Given the description of an element on the screen output the (x, y) to click on. 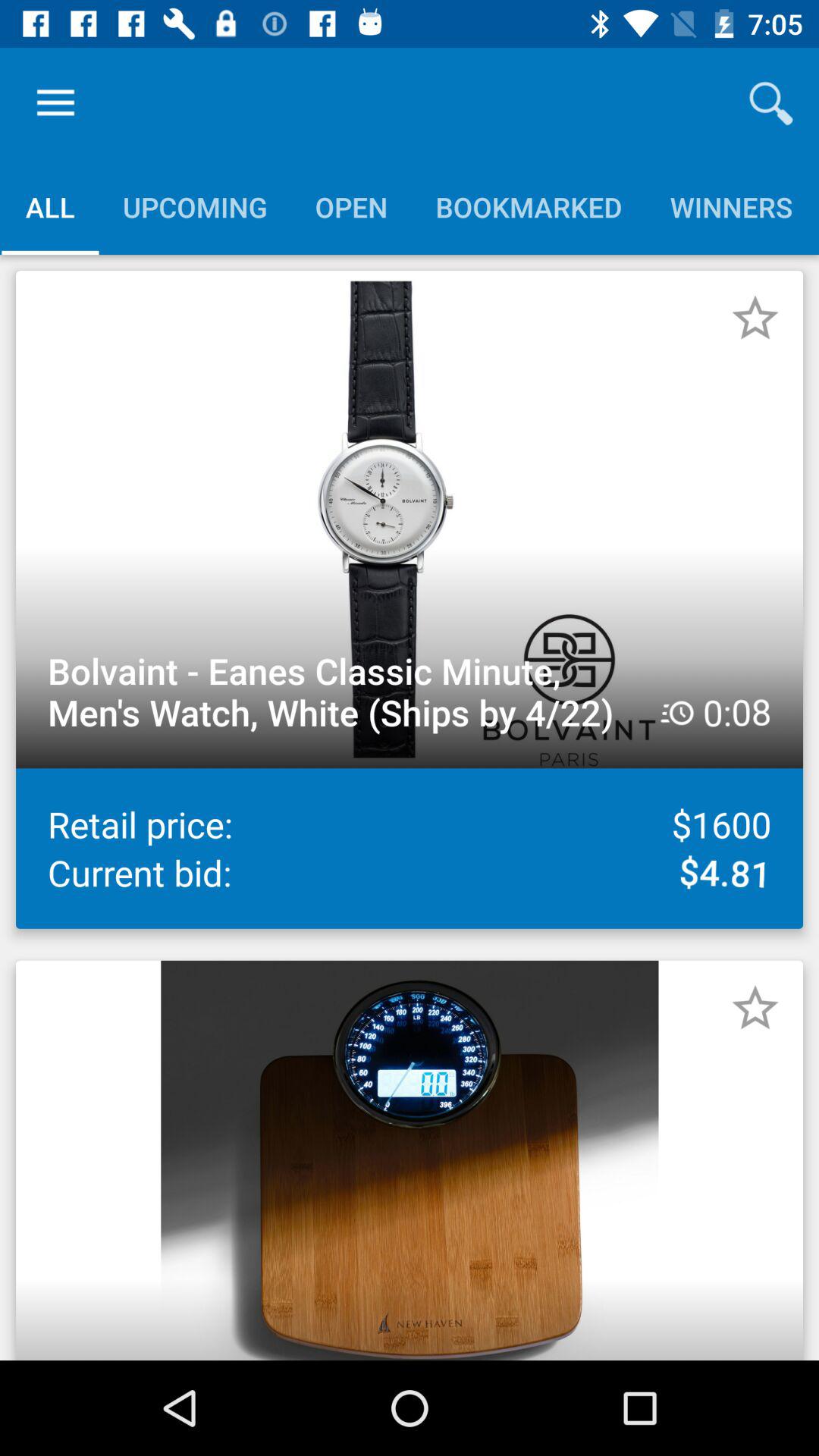
turn on the item above all item (55, 103)
